Given the description of an element on the screen output the (x, y) to click on. 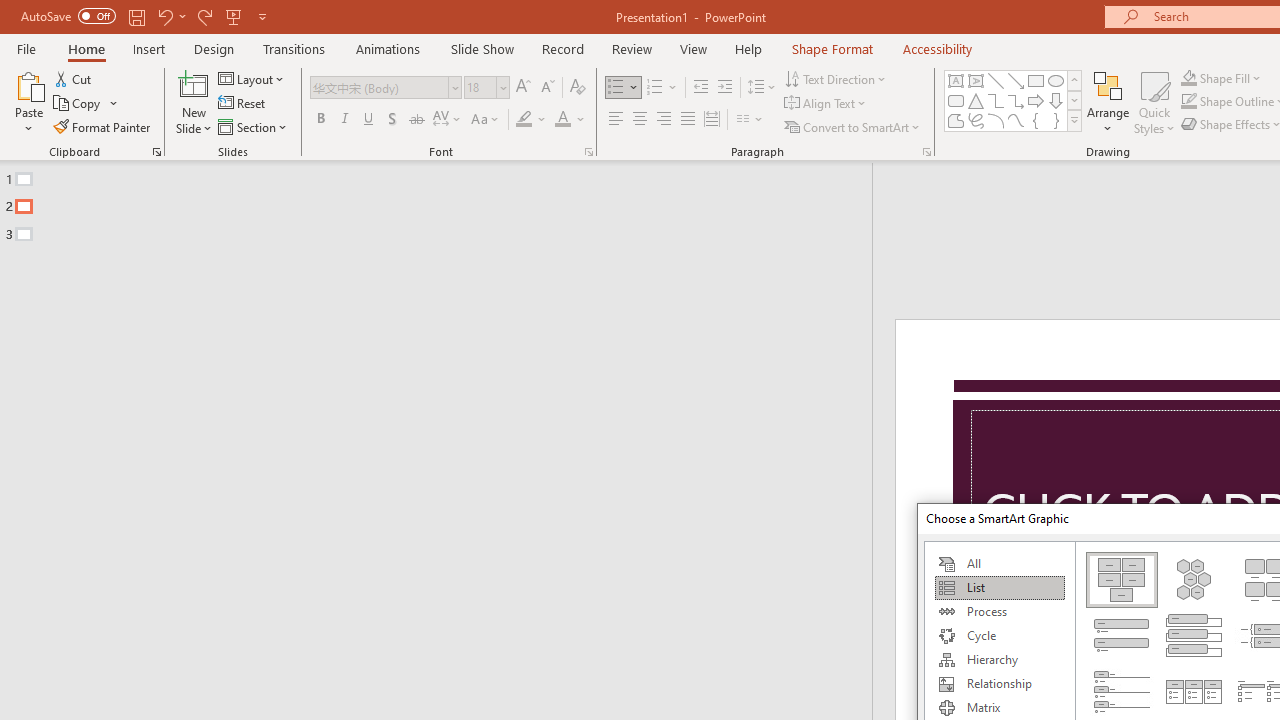
Vertical Box List (1194, 635)
Arc (995, 120)
Cycle (999, 636)
Isosceles Triangle (975, 100)
Freeform: Scribble (975, 120)
Open (502, 87)
Arrow: Down (1055, 100)
Row Down (1074, 100)
Shape Fill (1221, 78)
Tab List (1121, 691)
Copy (78, 103)
Shapes (1074, 120)
File Tab (26, 48)
